Given the description of an element on the screen output the (x, y) to click on. 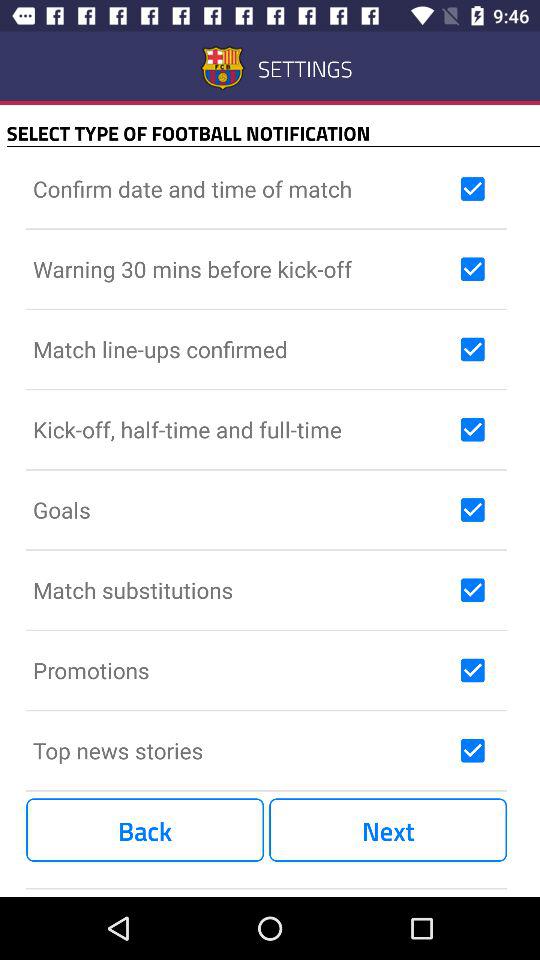
turn on top news stories item (242, 750)
